Given the description of an element on the screen output the (x, y) to click on. 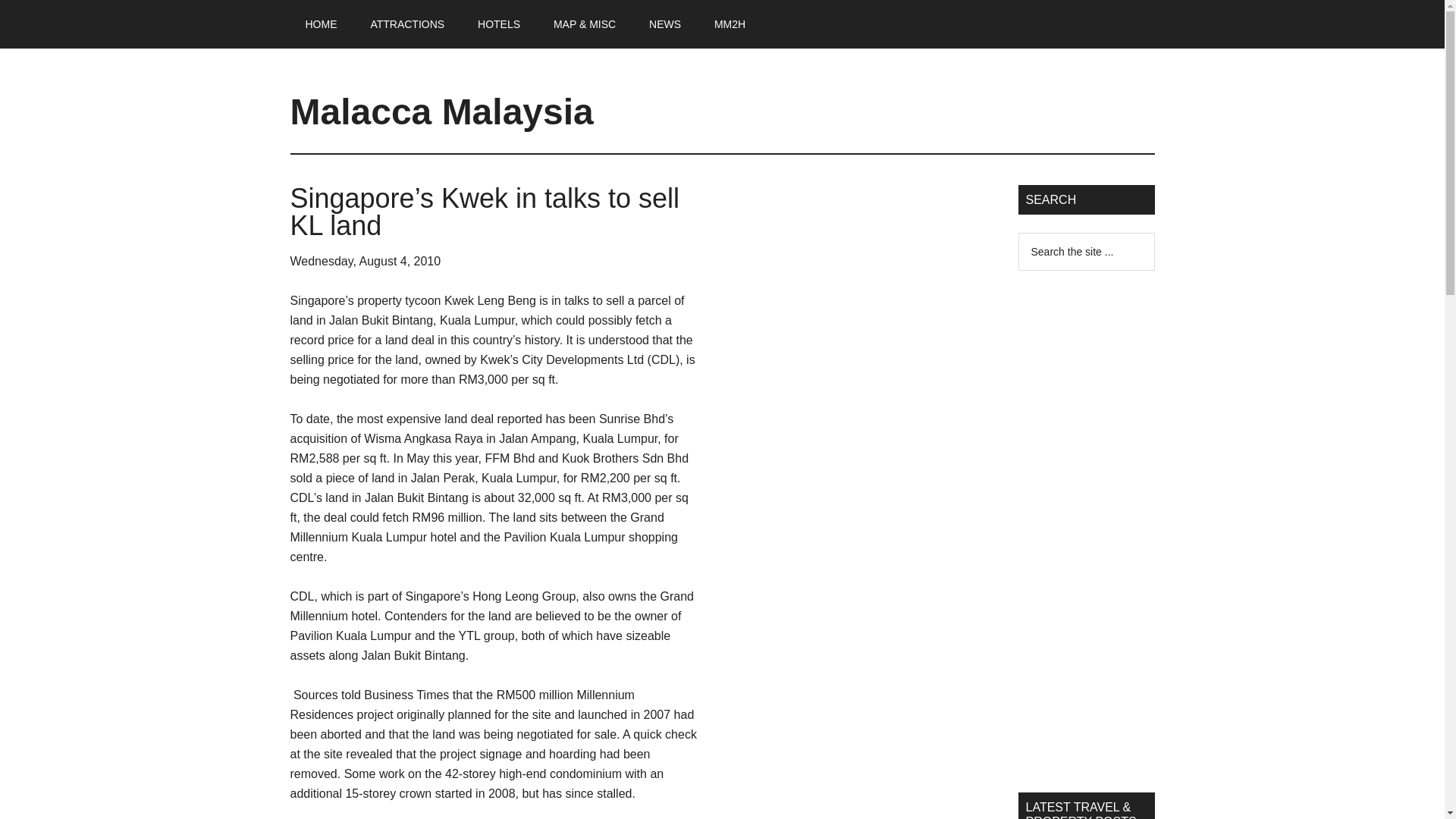
Advertisement (858, 291)
HOME (320, 24)
Malacca Malaysia (440, 111)
ATTRACTIONS (407, 24)
MM2H (729, 24)
HOTELS (499, 24)
NEWS (664, 24)
